Given the description of an element on the screen output the (x, y) to click on. 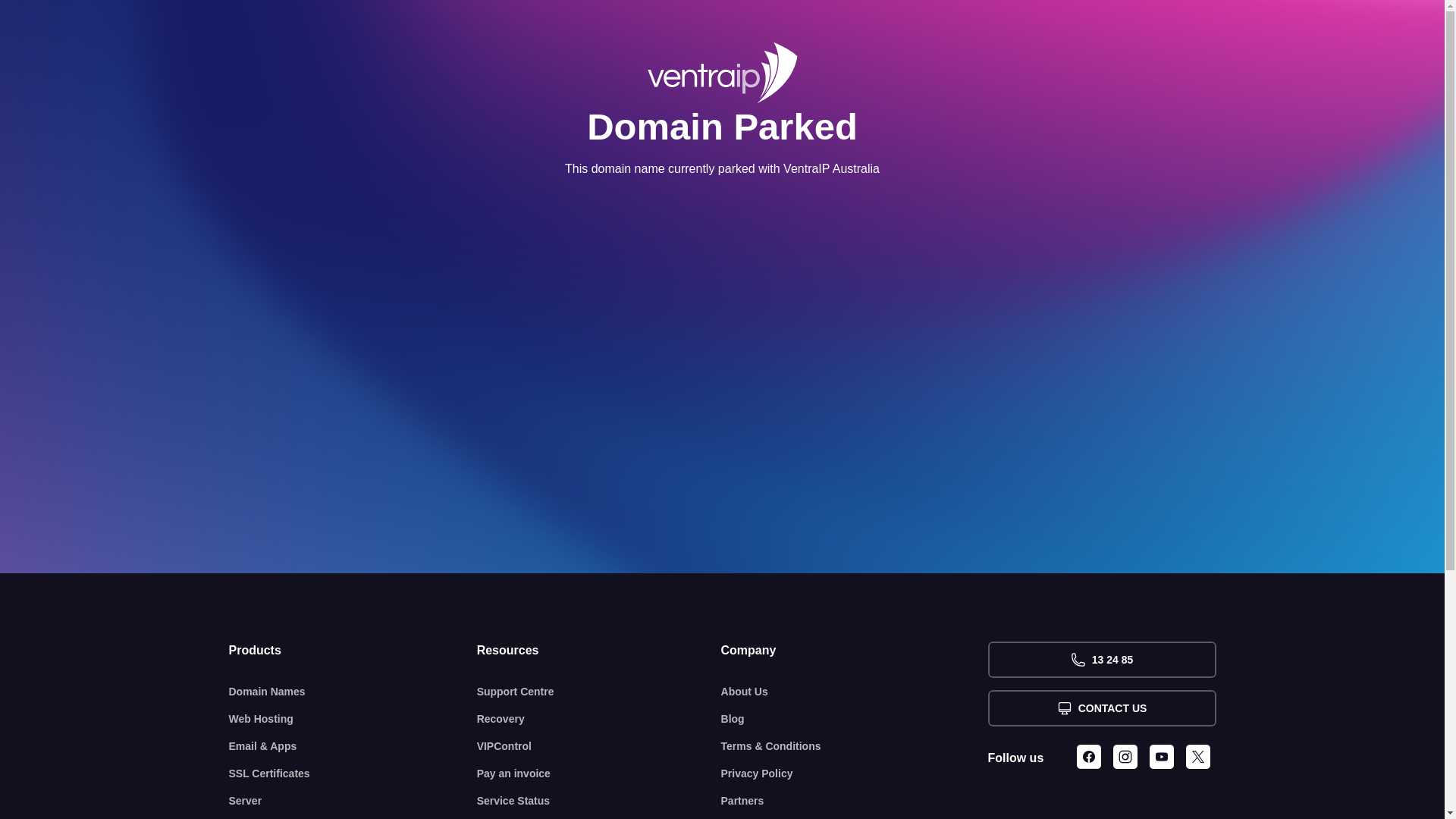
Pay an invoice Element type: text (598, 773)
13 24 85 Element type: text (1101, 659)
About Us Element type: text (854, 691)
Domain Names Element type: text (352, 691)
Server Element type: text (352, 800)
Email & Apps Element type: text (352, 745)
CONTACT US Element type: text (1101, 708)
Web Hosting Element type: text (352, 718)
Partners Element type: text (854, 800)
Recovery Element type: text (598, 718)
Blog Element type: text (854, 718)
Service Status Element type: text (598, 800)
VIPControl Element type: text (598, 745)
Support Centre Element type: text (598, 691)
Terms & Conditions Element type: text (854, 745)
Privacy Policy Element type: text (854, 773)
SSL Certificates Element type: text (352, 773)
